Given the description of an element on the screen output the (x, y) to click on. 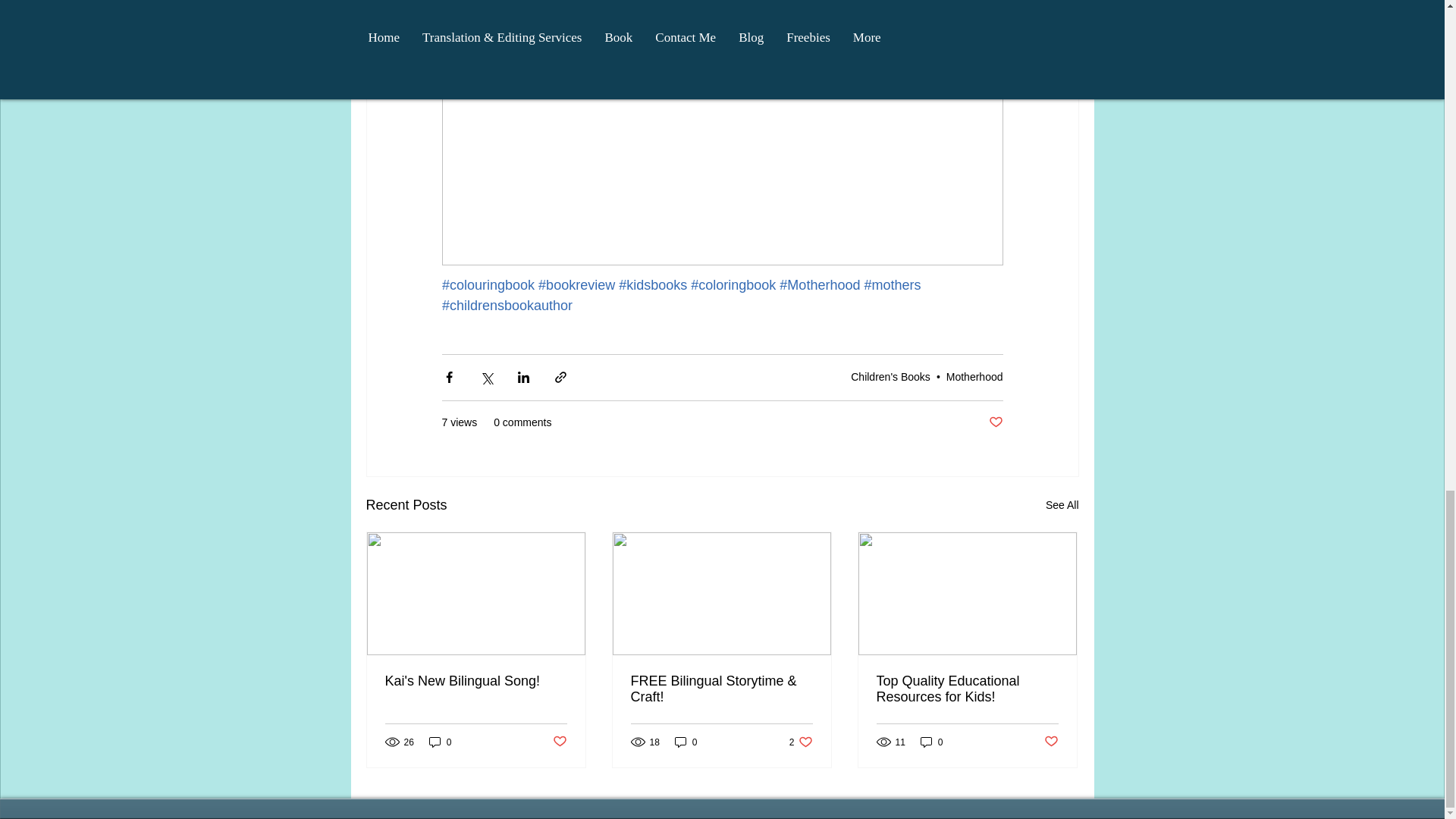
Motherhood (974, 377)
Children's Books (890, 377)
Post not marked as liked (995, 422)
